Given the description of an element on the screen output the (x, y) to click on. 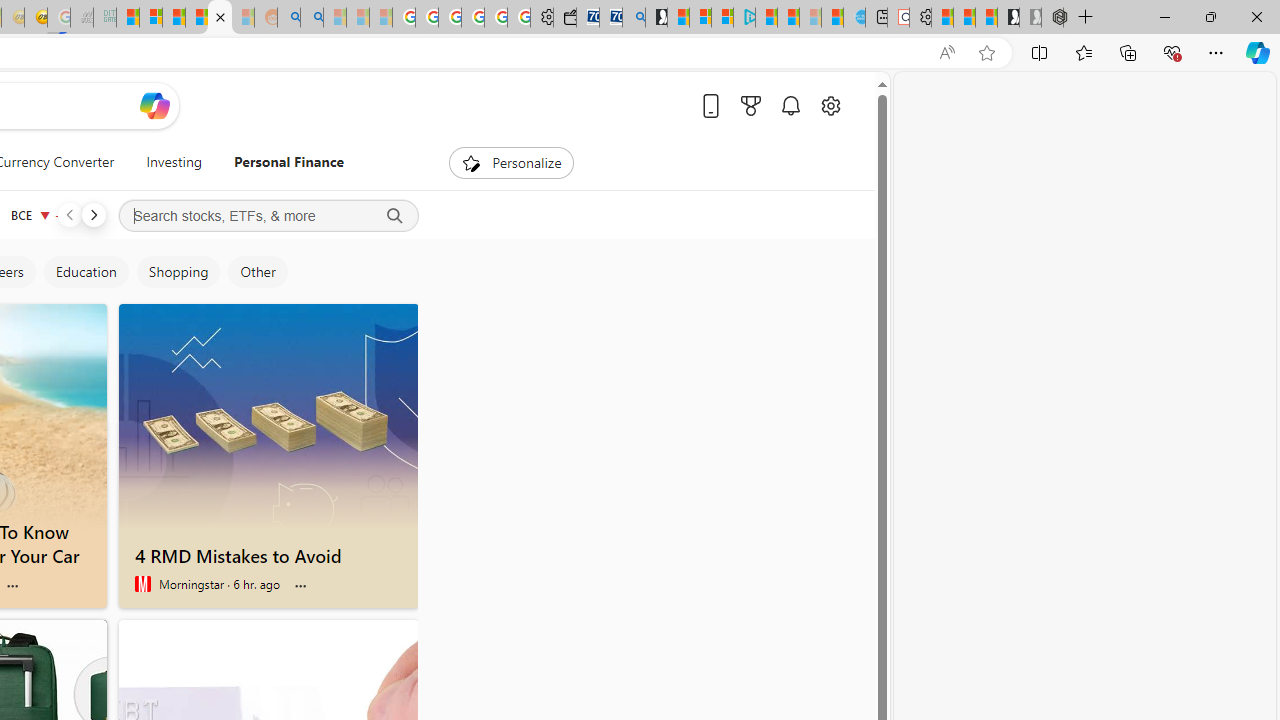
Education (86, 272)
Other (257, 272)
Student Loan Update: Forgiveness Program Ends This Month (196, 17)
